Given the description of an element on the screen output the (x, y) to click on. 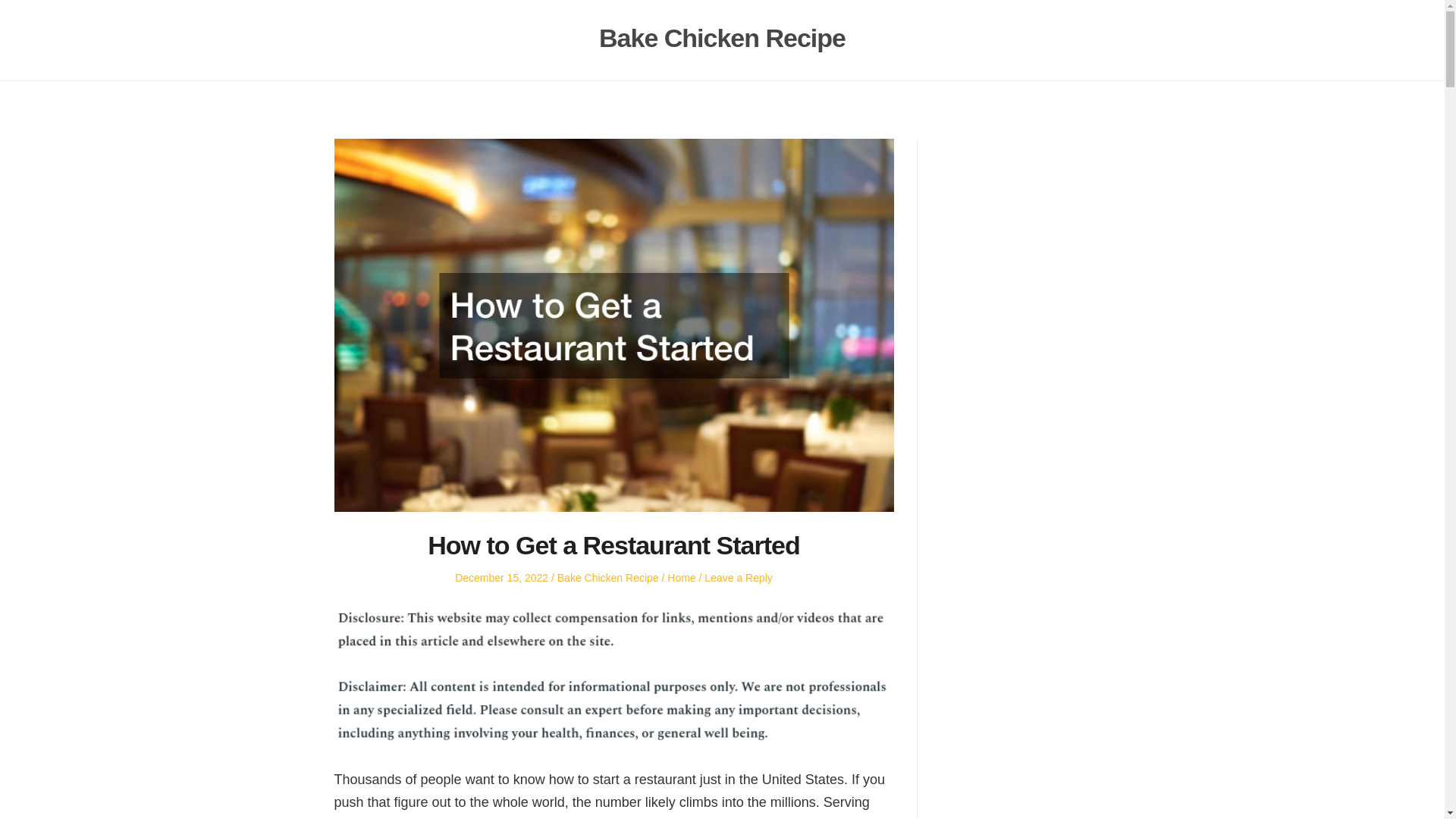
Leave a Reply (738, 577)
Bake Chicken Recipe (608, 577)
Home (680, 577)
December 15, 2022 (501, 577)
Bake Chicken Recipe (721, 38)
